Given the description of an element on the screen output the (x, y) to click on. 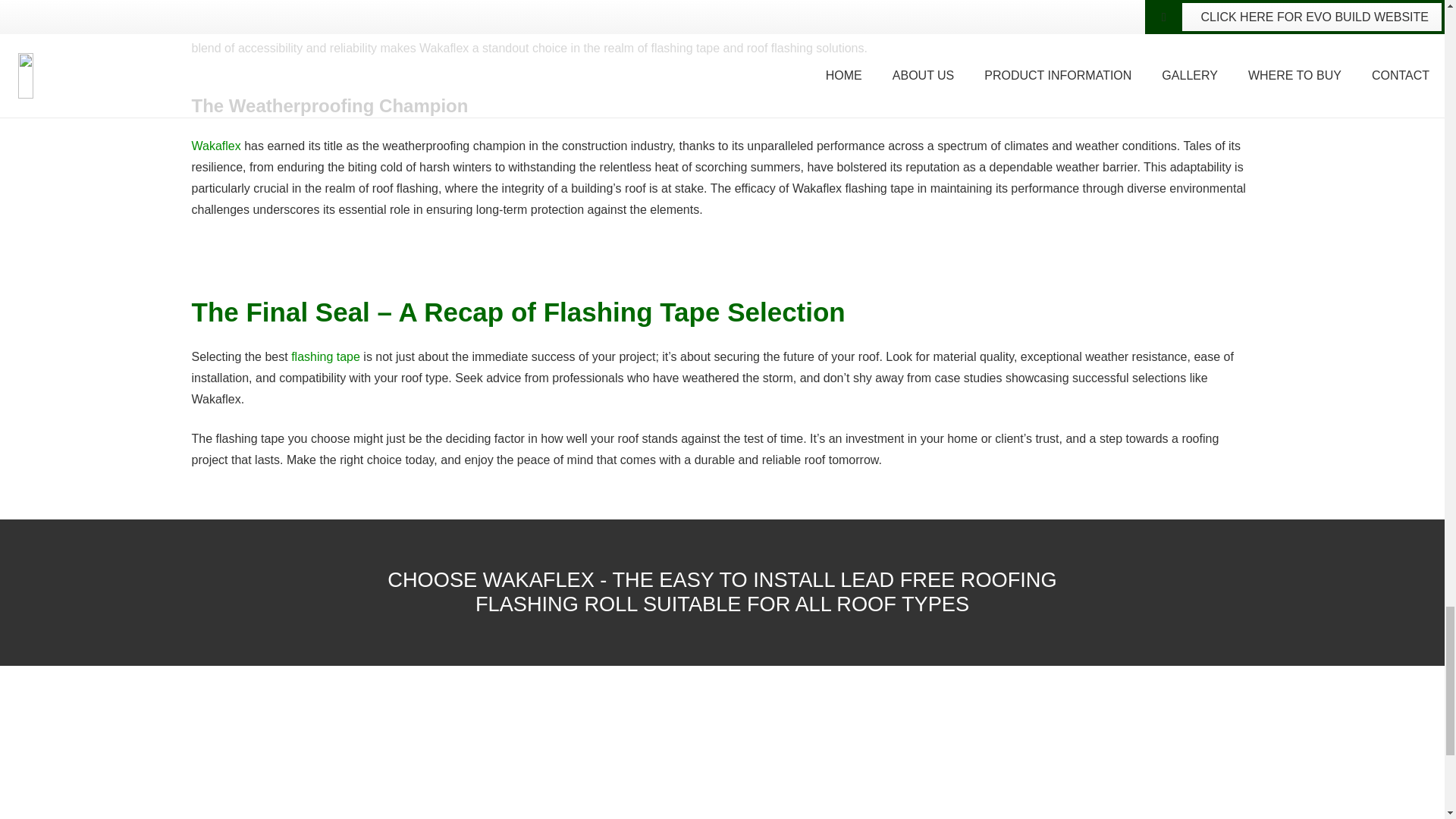
flashing tape (325, 356)
Wakaflex (215, 145)
Product Features (785, 814)
Home (481, 814)
